Given the description of an element on the screen output the (x, y) to click on. 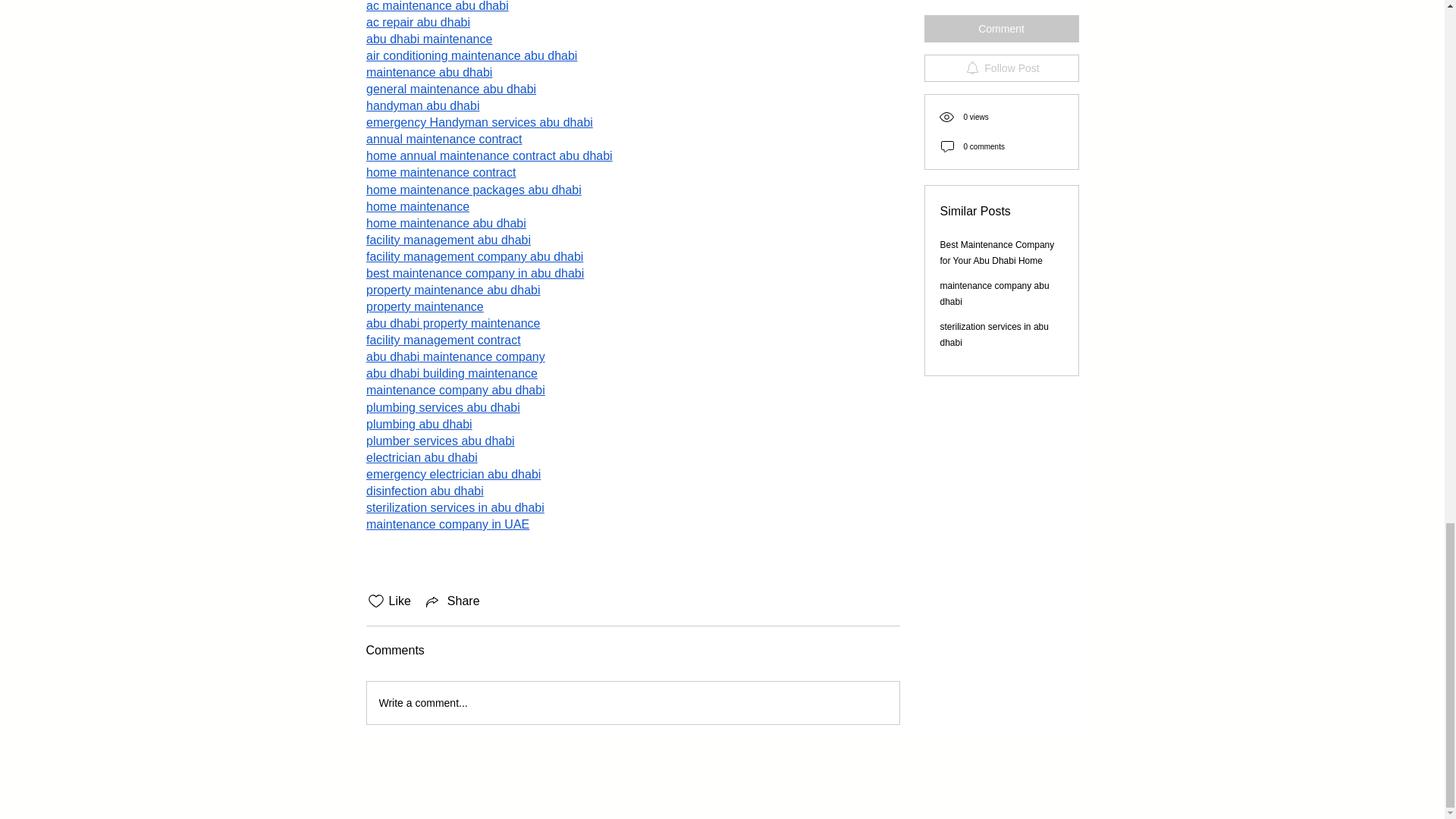
best maintenance company in abu dhabi (474, 273)
property maintenance abu dhabi (452, 289)
home maintenance contract (440, 172)
air conditioning maintenance abu dhabi (470, 55)
ac repair abu dhabi (416, 21)
home annual maintenance contract abu dhabi (488, 155)
abu dhabi maintenance (428, 38)
home maintenance abu dhabi (445, 223)
handyman abu dhabi (422, 105)
general maintenance abu dhabi (450, 88)
home maintenance packages abu dhabi (472, 188)
maintenance abu dhabi (428, 72)
facility management company abu dhabi (473, 256)
annual maintenance contract (443, 138)
facility management abu dhabi (447, 239)
